Given the description of an element on the screen output the (x, y) to click on. 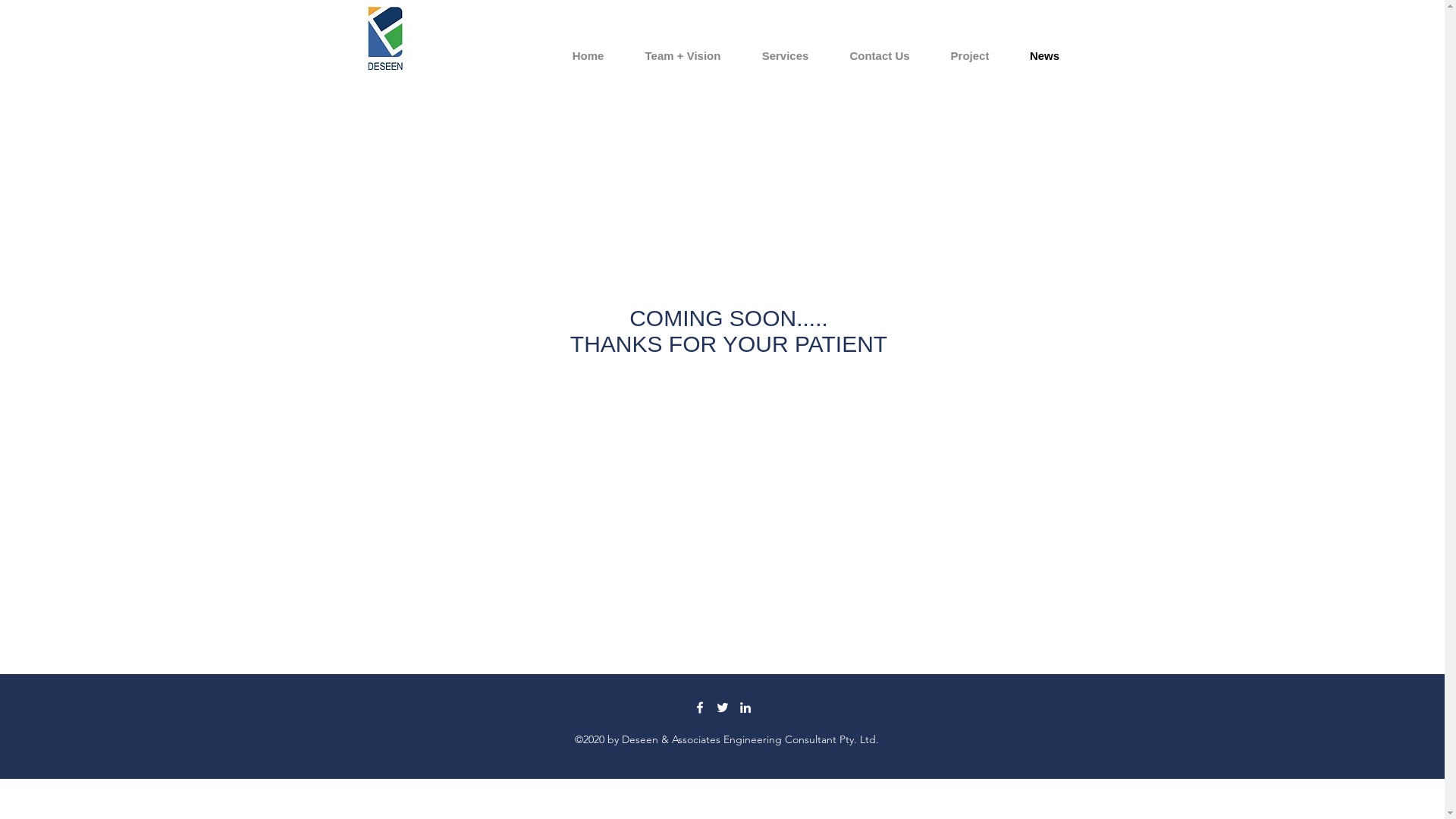
Home Element type: text (588, 55)
Project Element type: text (969, 55)
Contact Us Element type: text (879, 55)
Team + Vision Element type: text (682, 55)
Services Element type: text (785, 55)
News Element type: text (1044, 55)
